Given the description of an element on the screen output the (x, y) to click on. 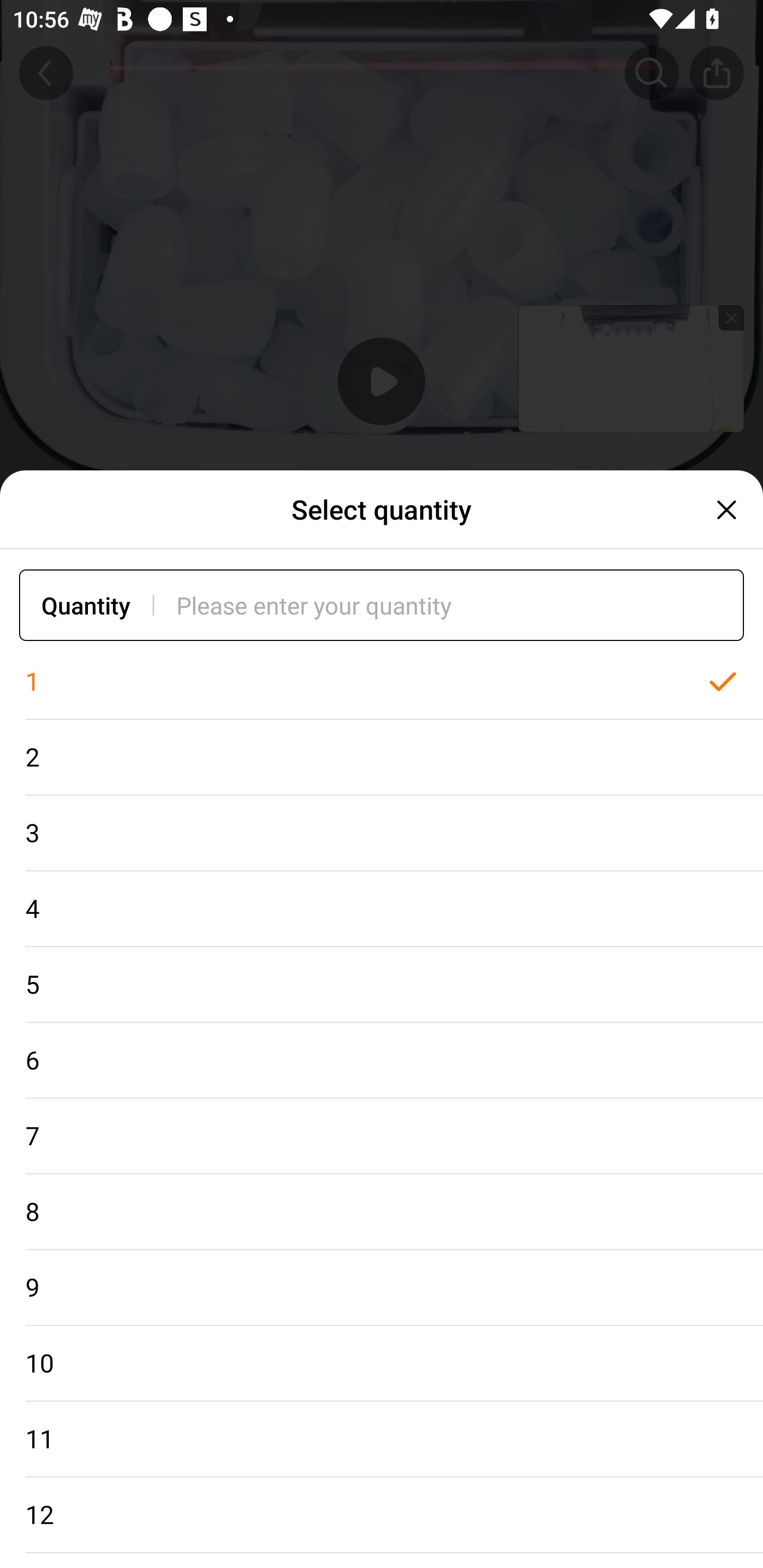
Please enter your quantity (459, 605)
1 (381, 681)
2 (381, 756)
3 (381, 832)
4 (381, 909)
5 (381, 984)
6 (381, 1060)
7 (381, 1136)
8 (381, 1211)
9 (381, 1287)
10 (381, 1363)
11 (381, 1439)
12 (381, 1515)
